Given the description of an element on the screen output the (x, y) to click on. 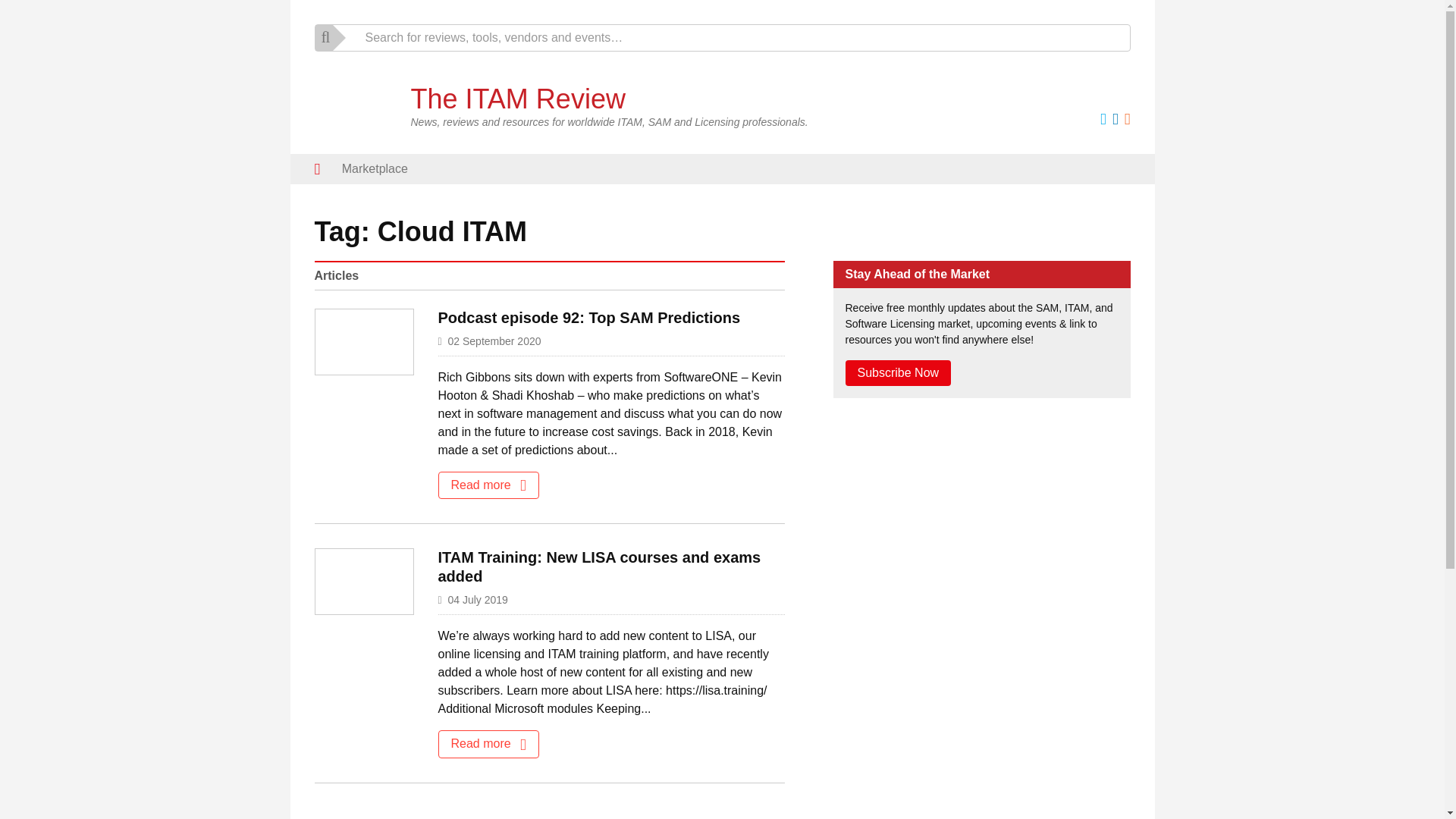
Read more (488, 484)
Subscribe Now (897, 372)
ITAM Training: New LISA courses and exams added (599, 566)
Podcast episode 92: Top SAM Predictions (589, 317)
Podcast episode 92: Top SAM Predictions (589, 317)
Read more (488, 743)
Marketplace (375, 168)
ITAM Training: New LISA courses and exams added (599, 566)
